Given the description of an element on the screen output the (x, y) to click on. 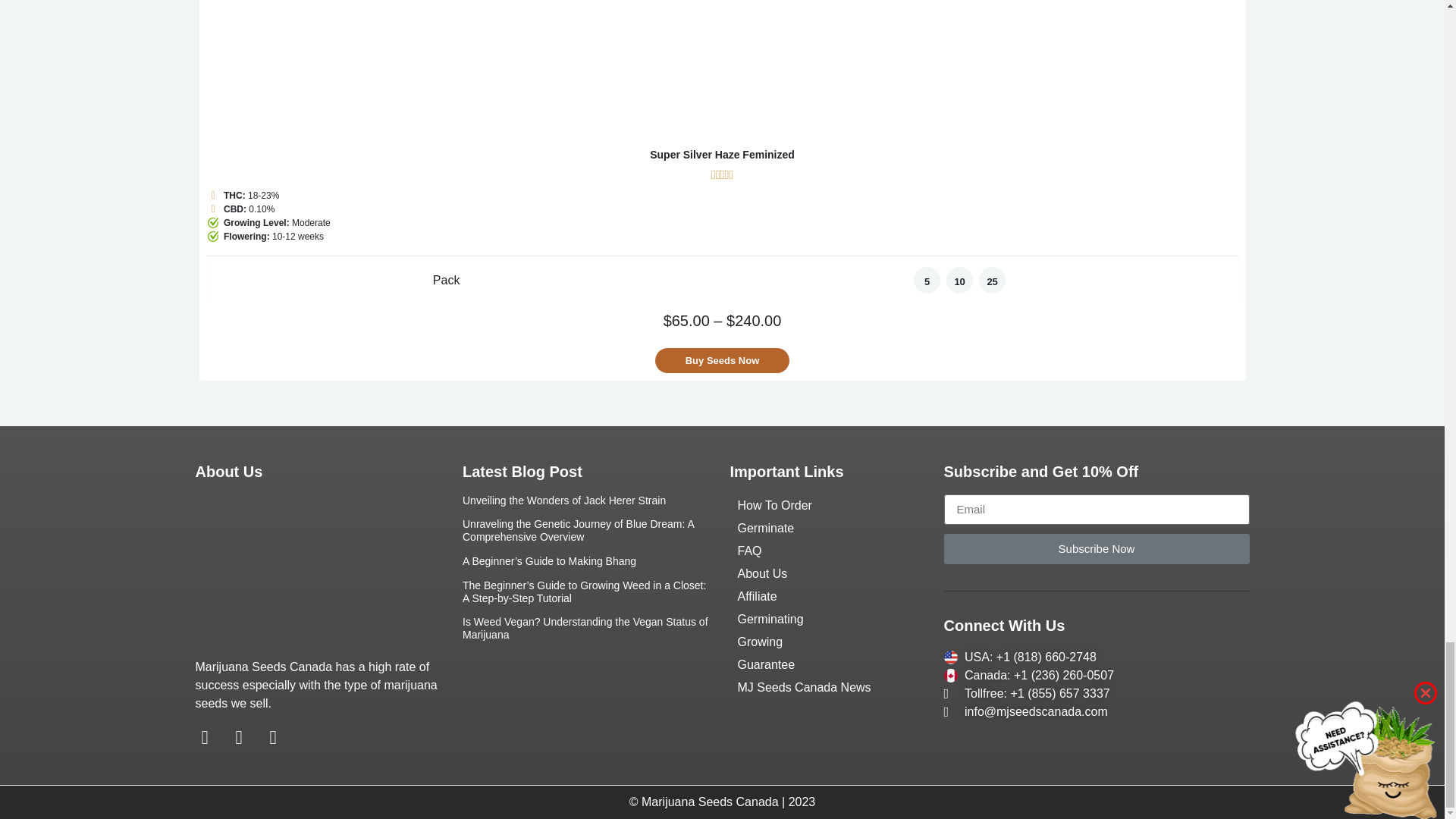
Super Silver Haze Feminized (721, 72)
